Given the description of an element on the screen output the (x, y) to click on. 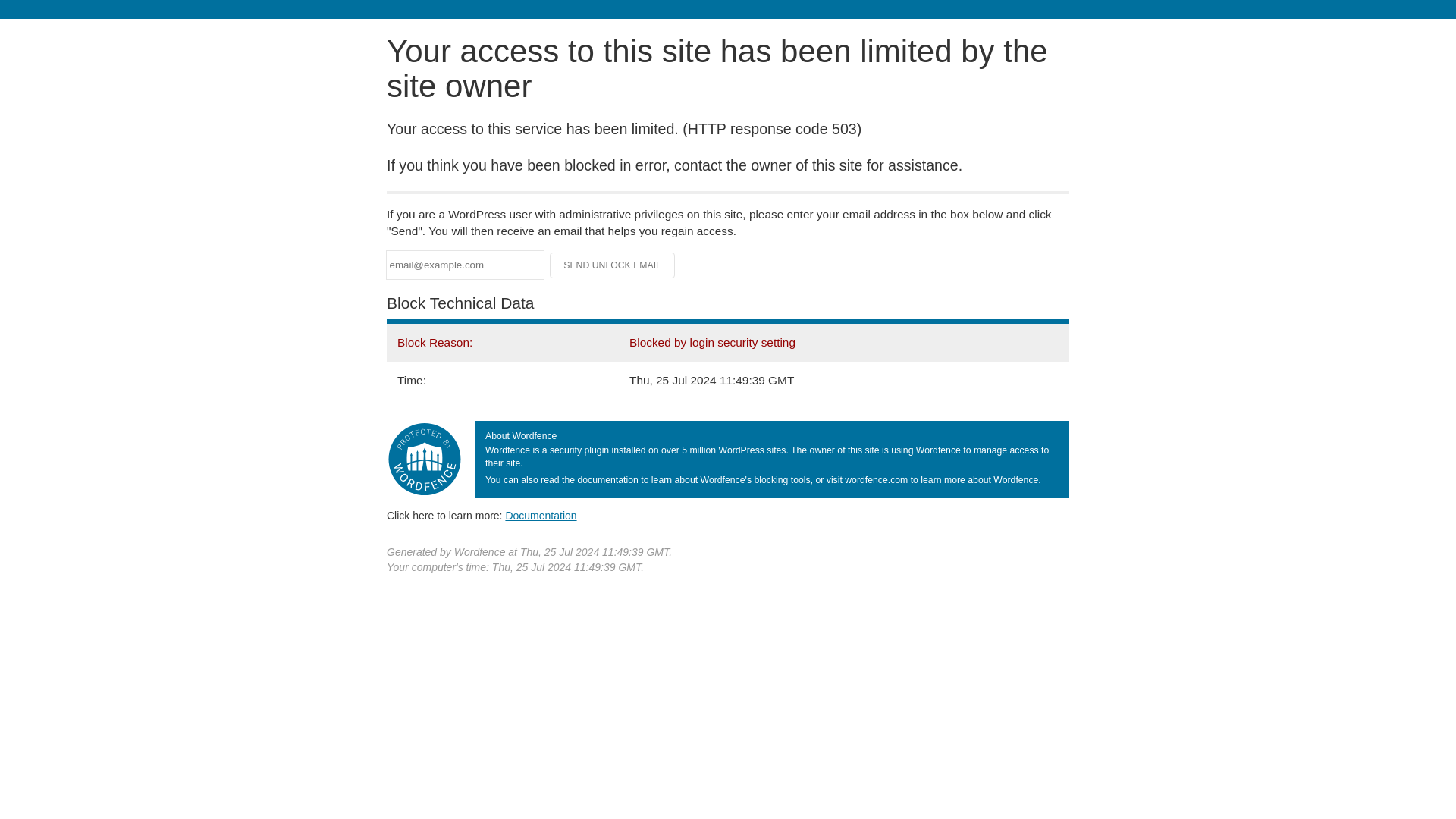
Documentation (540, 515)
Send Unlock Email (612, 265)
Send Unlock Email (612, 265)
